Given the description of an element on the screen output the (x, y) to click on. 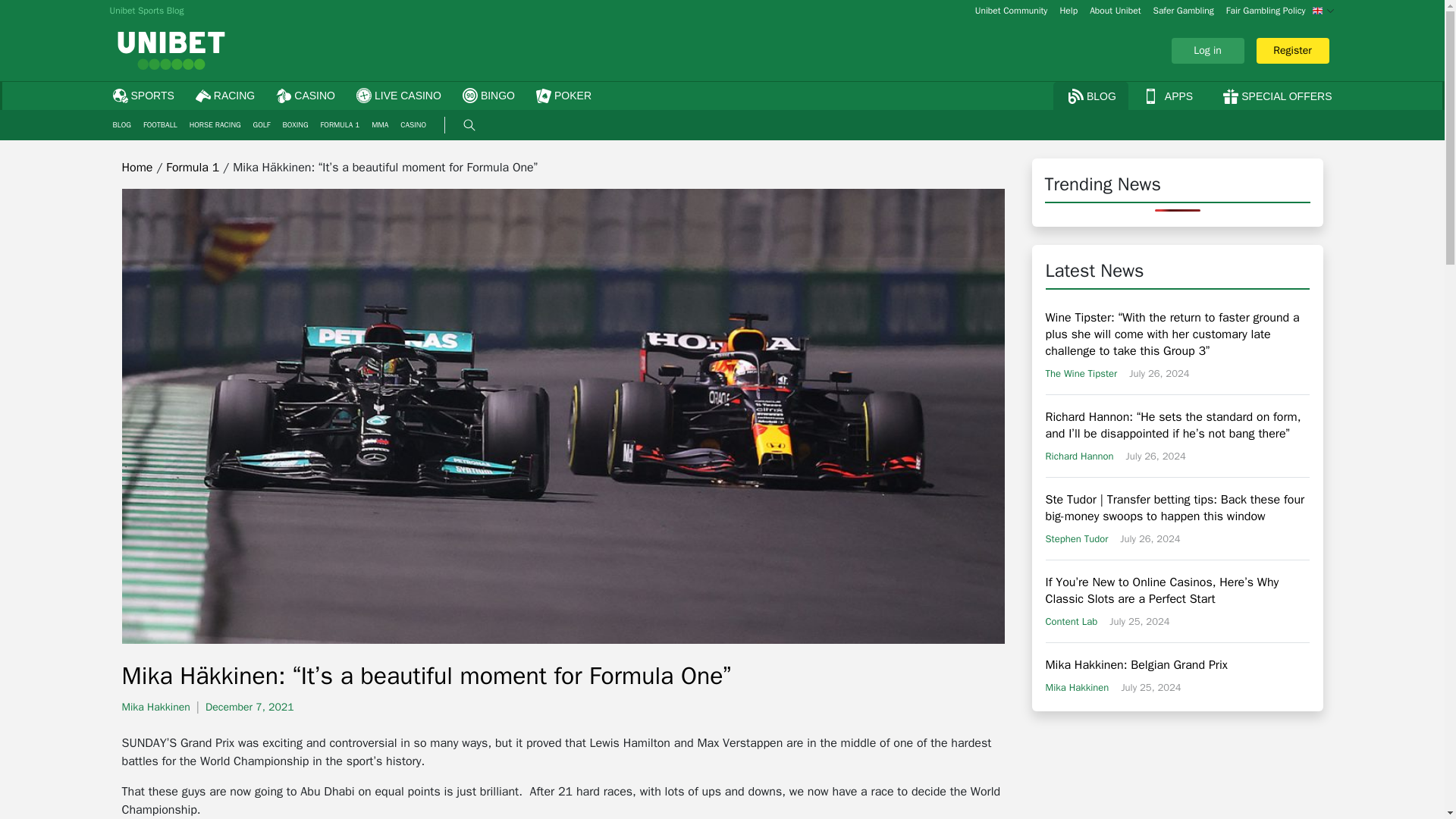
Help (1067, 10)
Unibet Community (1011, 10)
Register (1291, 50)
SPORTS (141, 95)
Safer Gambling (1183, 10)
Log in (722, 124)
mika hakkinen (1207, 50)
About Unibet (157, 706)
Fair Gambling Policy (1115, 10)
